Given the description of an element on the screen output the (x, y) to click on. 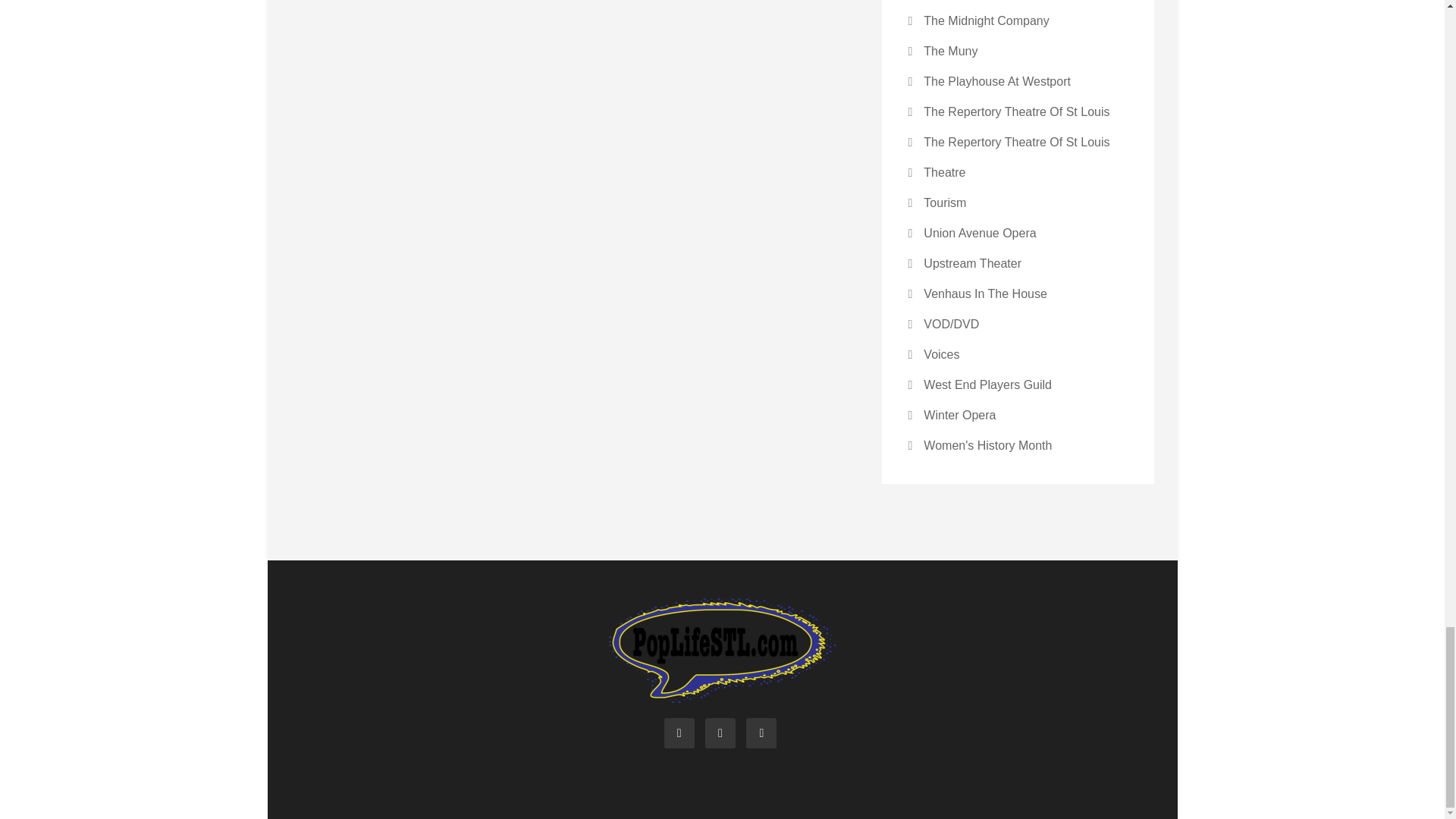
Pop Life STL (721, 649)
